Given the description of an element on the screen output the (x, y) to click on. 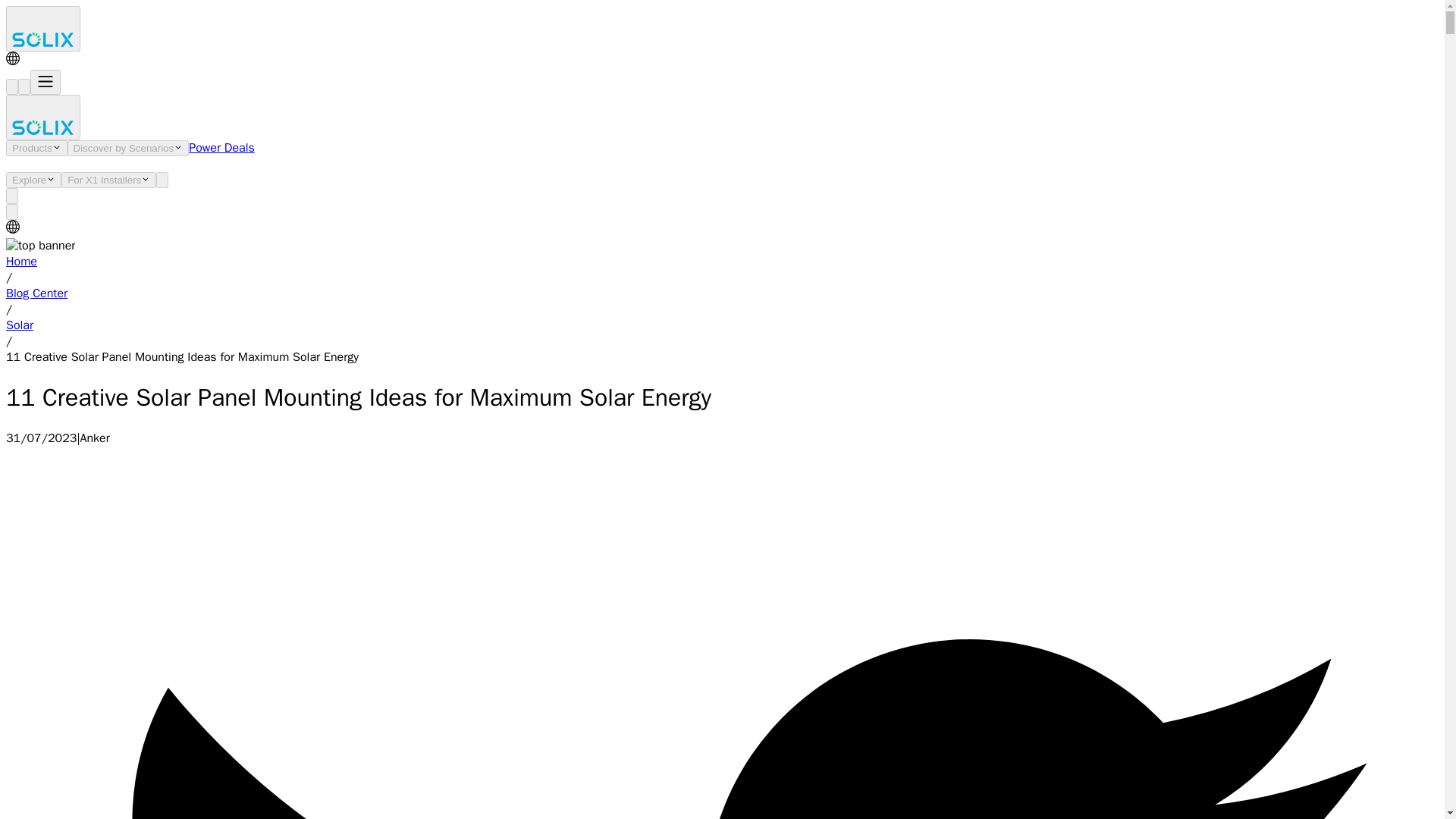
Products (35, 148)
Solar (19, 324)
Explore (33, 179)
Home (21, 261)
For X1 Installers (108, 179)
Blog Center (35, 293)
Discover by Scenarios (127, 148)
